Given the description of an element on the screen output the (x, y) to click on. 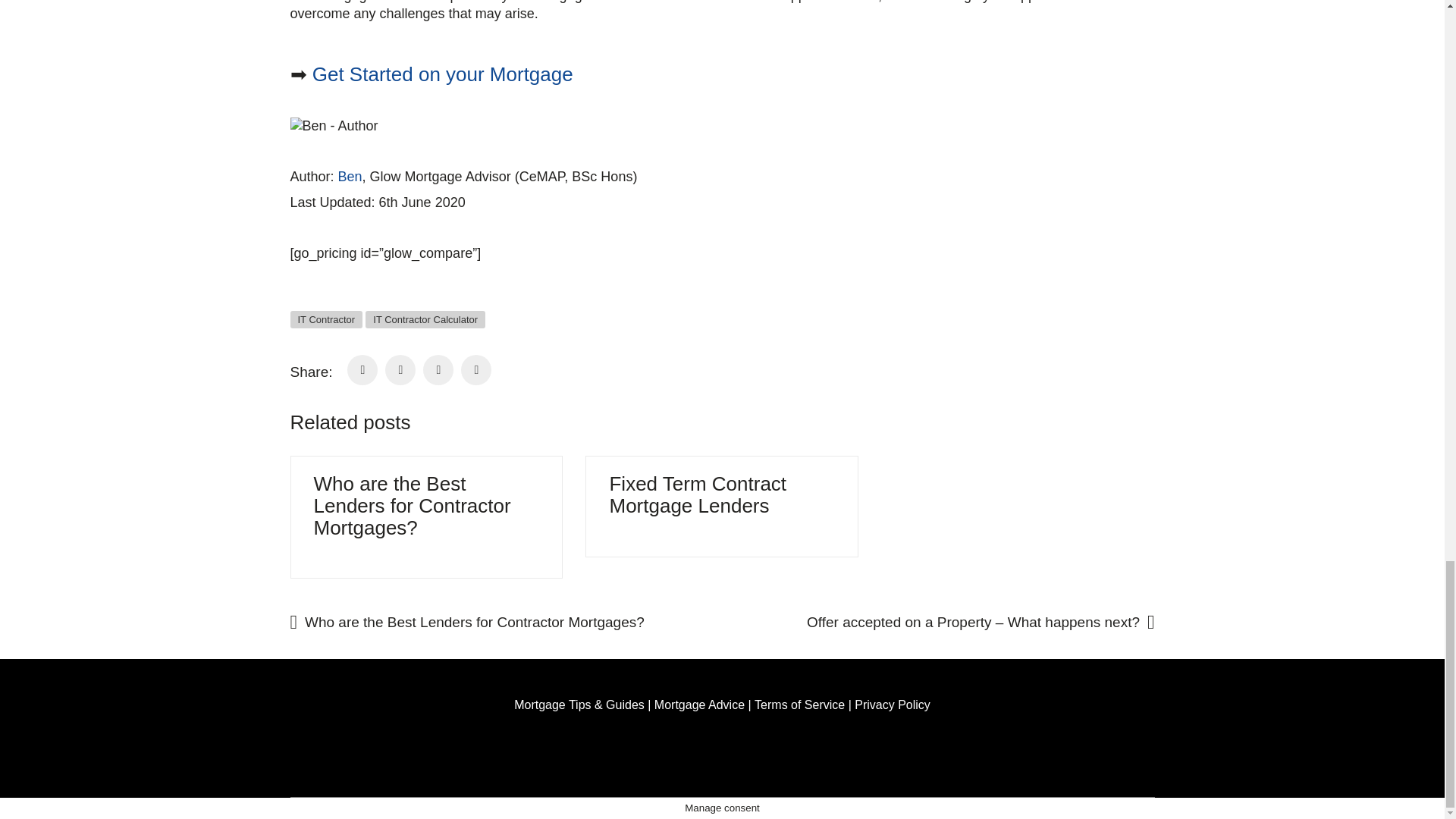
Get Started on your Mortgage (443, 74)
Ben (349, 176)
Who are the Best Lenders for Contractor Mortgages? (495, 622)
IT Contractor Calculator (424, 319)
Who are the Best Lenders for Contractor Mortgages? (427, 505)
Fixed Term Contract Mortgage Lenders (721, 494)
Terms of Service (799, 704)
Mortgage Advice (698, 704)
IT Contractor (325, 319)
Privacy Policy (892, 704)
